Given the description of an element on the screen output the (x, y) to click on. 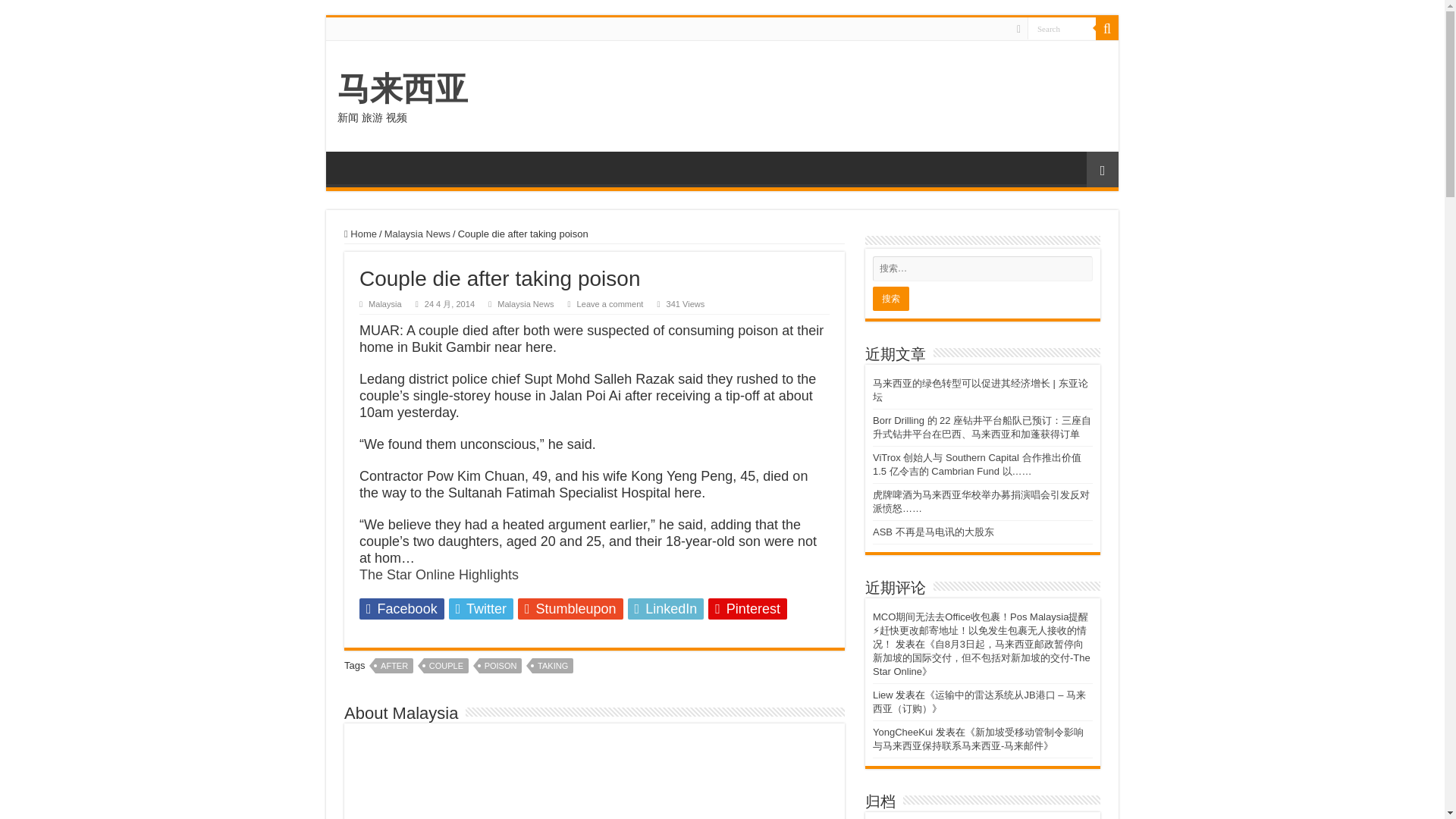
Random Article (1102, 169)
Malaysia News (416, 233)
COUPLE (445, 665)
The Star Online Highlights (438, 574)
Malaysia (384, 303)
Search (1107, 28)
Facebook (1018, 29)
Liew (882, 695)
AFTER (394, 665)
Search (1061, 28)
Pinterest (747, 608)
TAKING (552, 665)
Malaysia News (525, 303)
Twitter (480, 608)
